Given the description of an element on the screen output the (x, y) to click on. 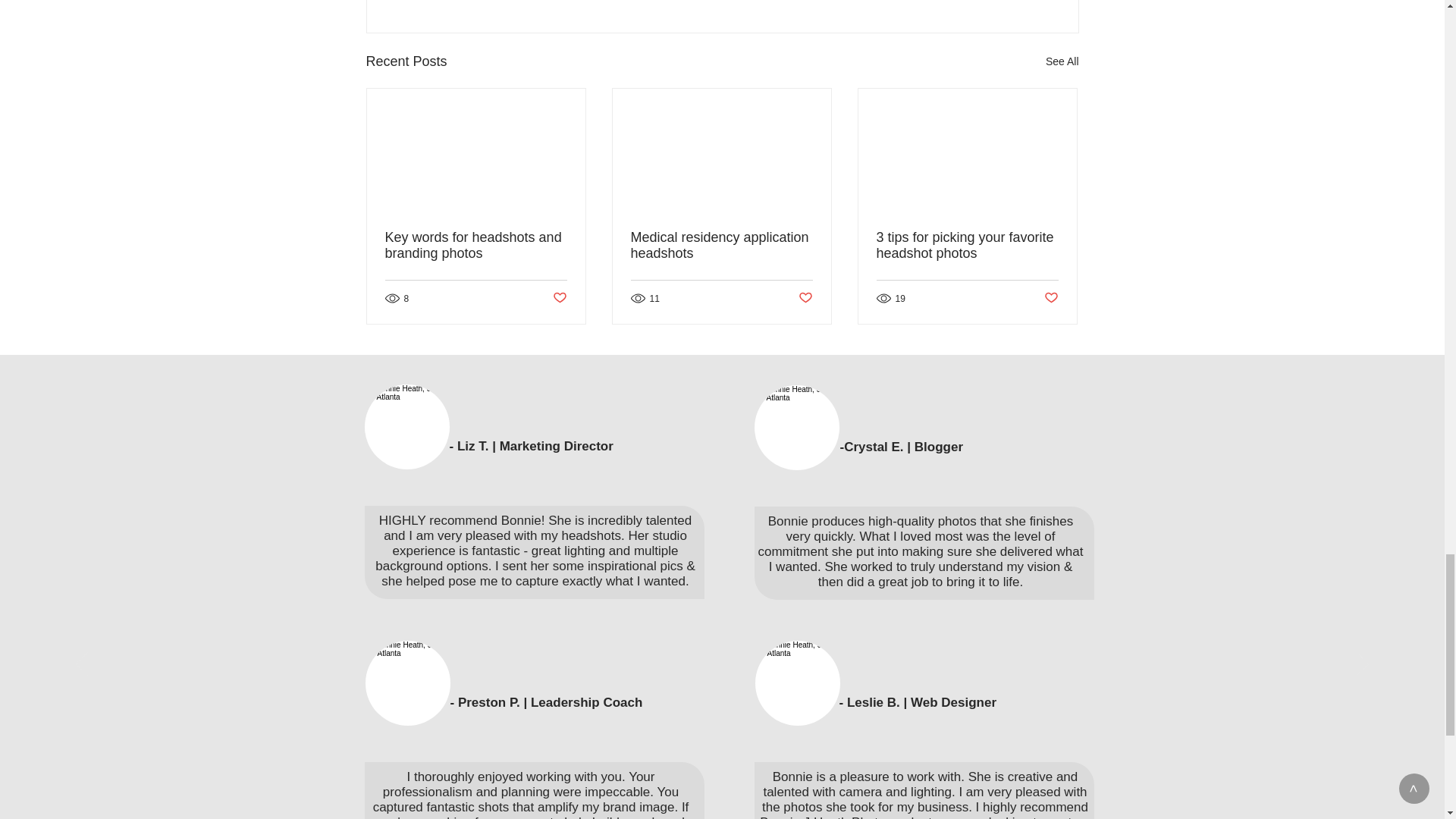
Post not marked as liked (558, 298)
Medical residency application headshots (721, 245)
Key words for headshots and branding photos (476, 245)
3 tips for picking your favorite headshot photos (967, 245)
See All (1061, 61)
Post not marked as liked (1050, 298)
Post not marked as liked (804, 298)
